Given the description of an element on the screen output the (x, y) to click on. 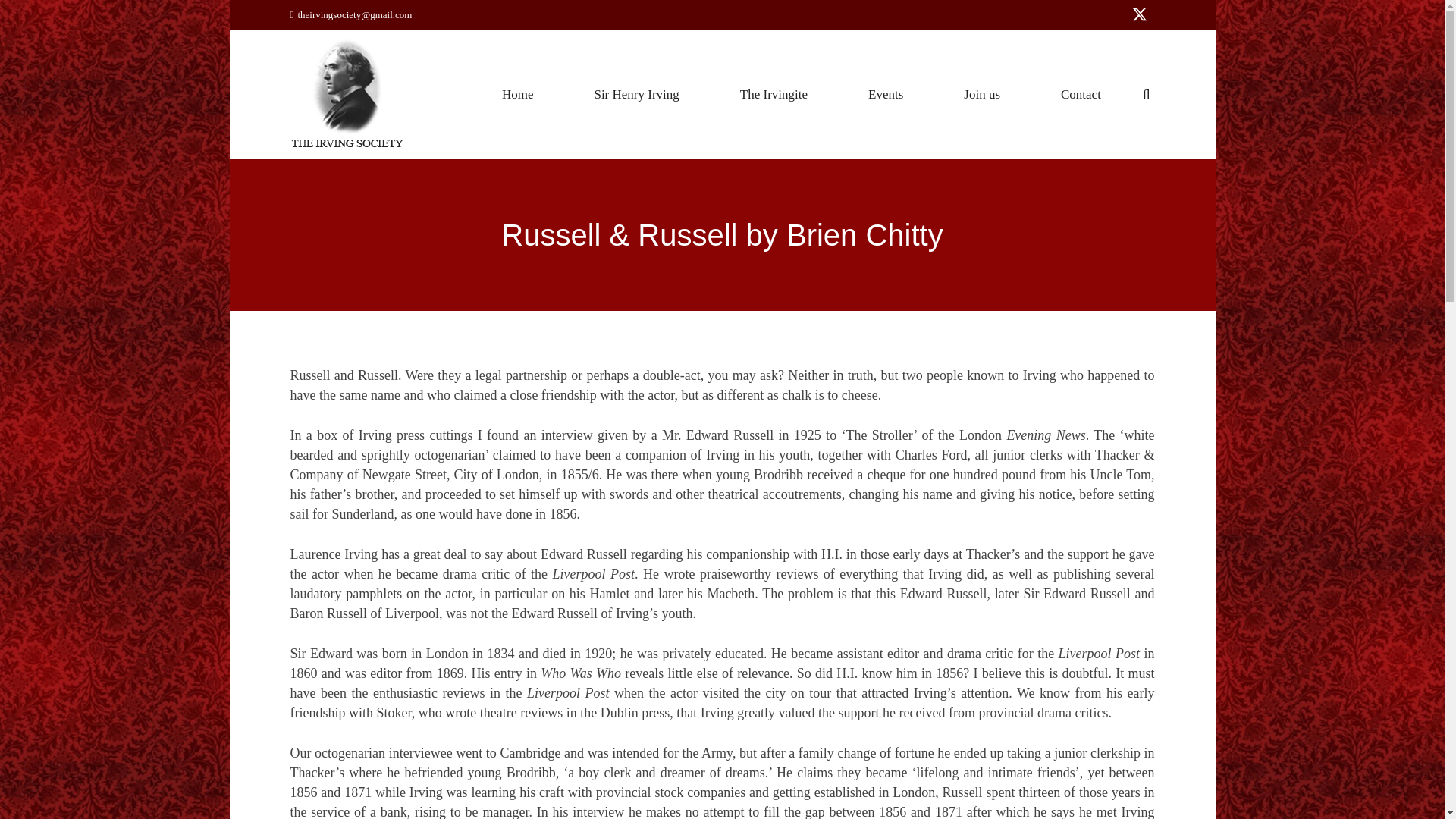
Home (517, 94)
Sir Henry Irving (636, 94)
Twitter (1139, 15)
Events (885, 94)
Contact (1080, 94)
Join us (981, 94)
The Irvingite (774, 94)
